Given the description of an element on the screen output the (x, y) to click on. 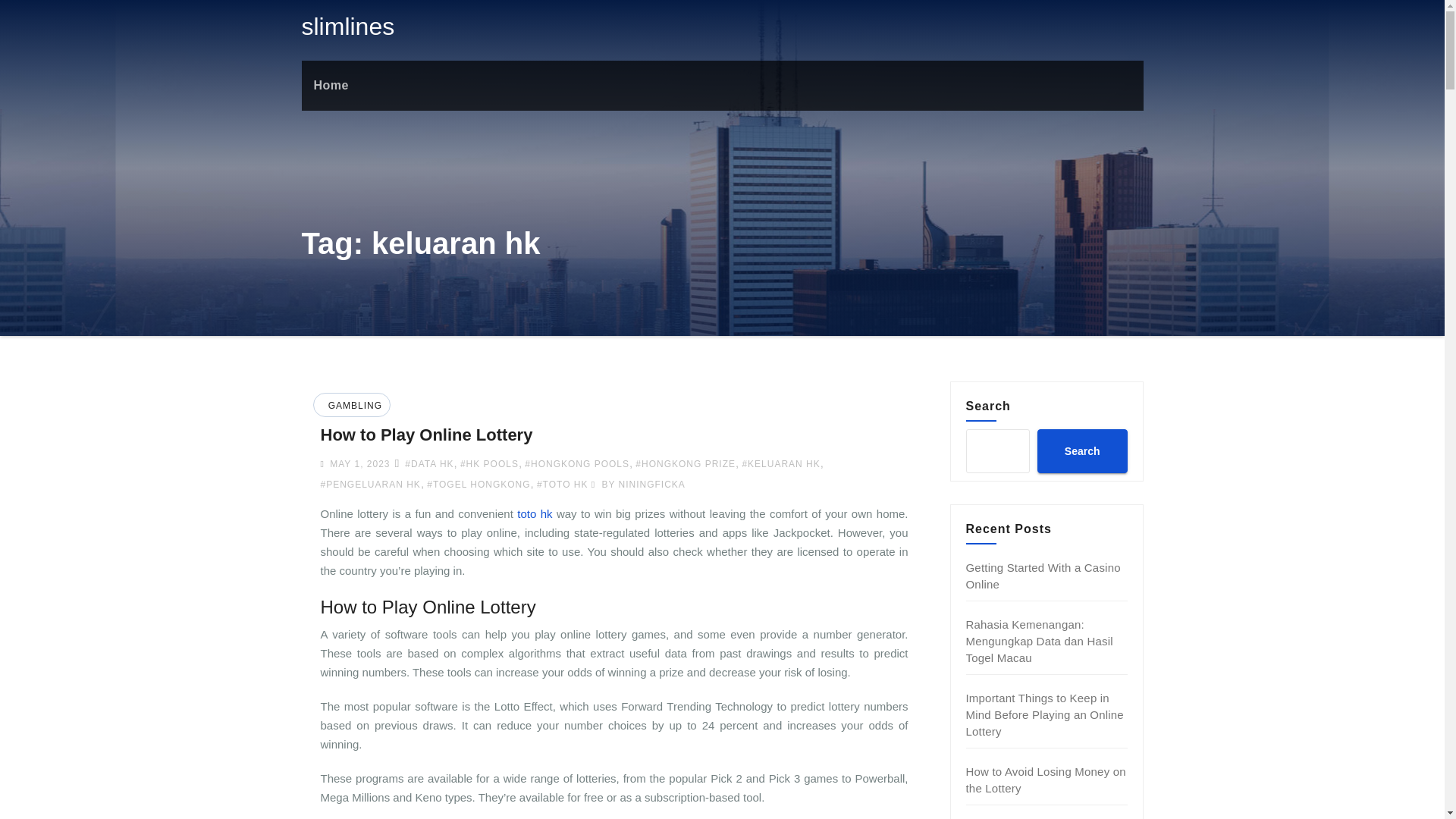
slimlines (347, 26)
Home (331, 85)
Home (331, 85)
GAMBLING (352, 405)
BY NININGFICKA (638, 484)
MAY 1, 2023 (358, 463)
How to Play Online Lottery (426, 434)
Permalink to: How to Play Online Lottery (426, 434)
toto hk (533, 513)
